Given the description of an element on the screen output the (x, y) to click on. 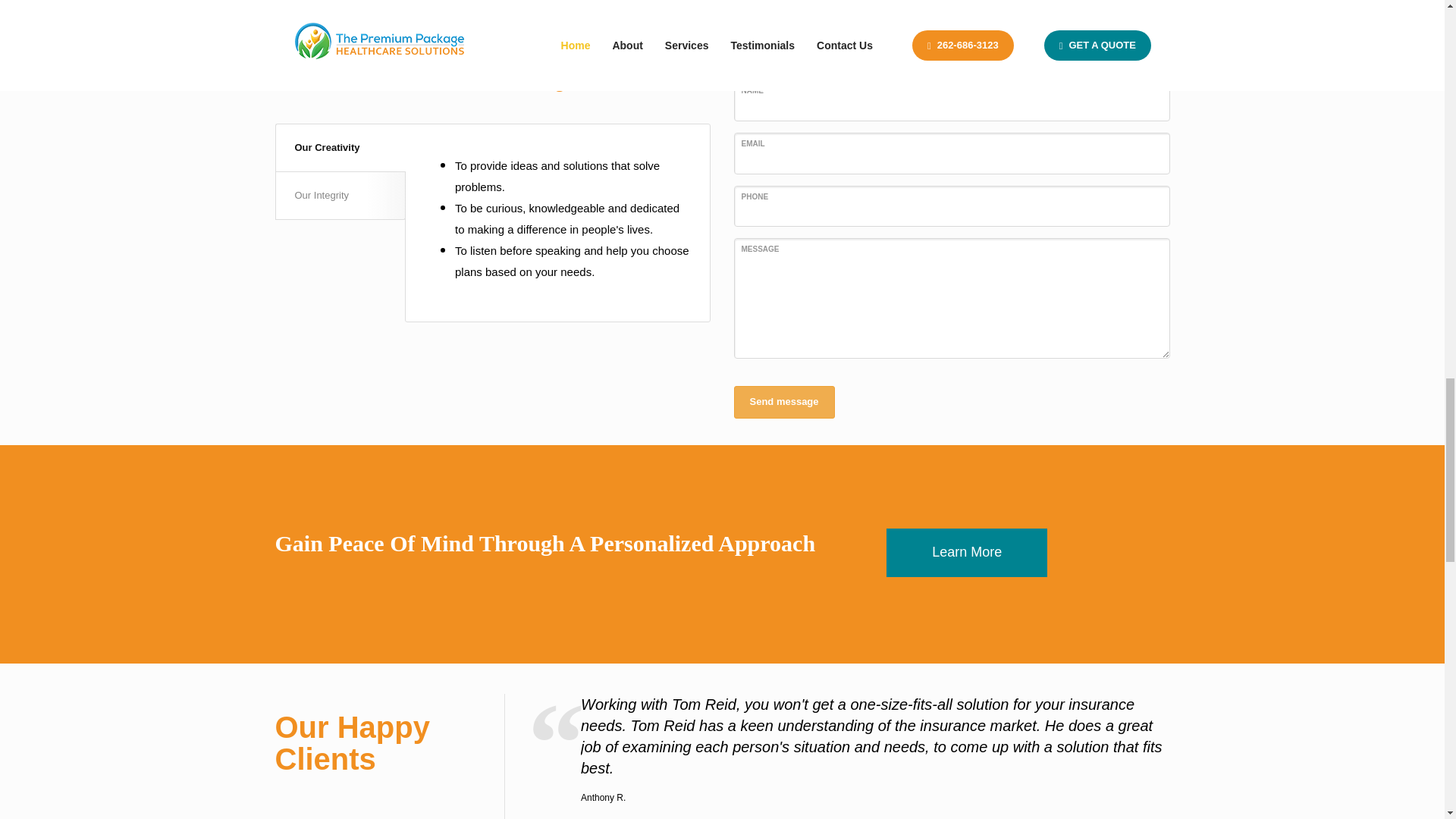
Send message (783, 401)
Our Integrity (340, 195)
Contact Us (966, 552)
Learn More (966, 552)
Our Creativity (340, 147)
